Given the description of an element on the screen output the (x, y) to click on. 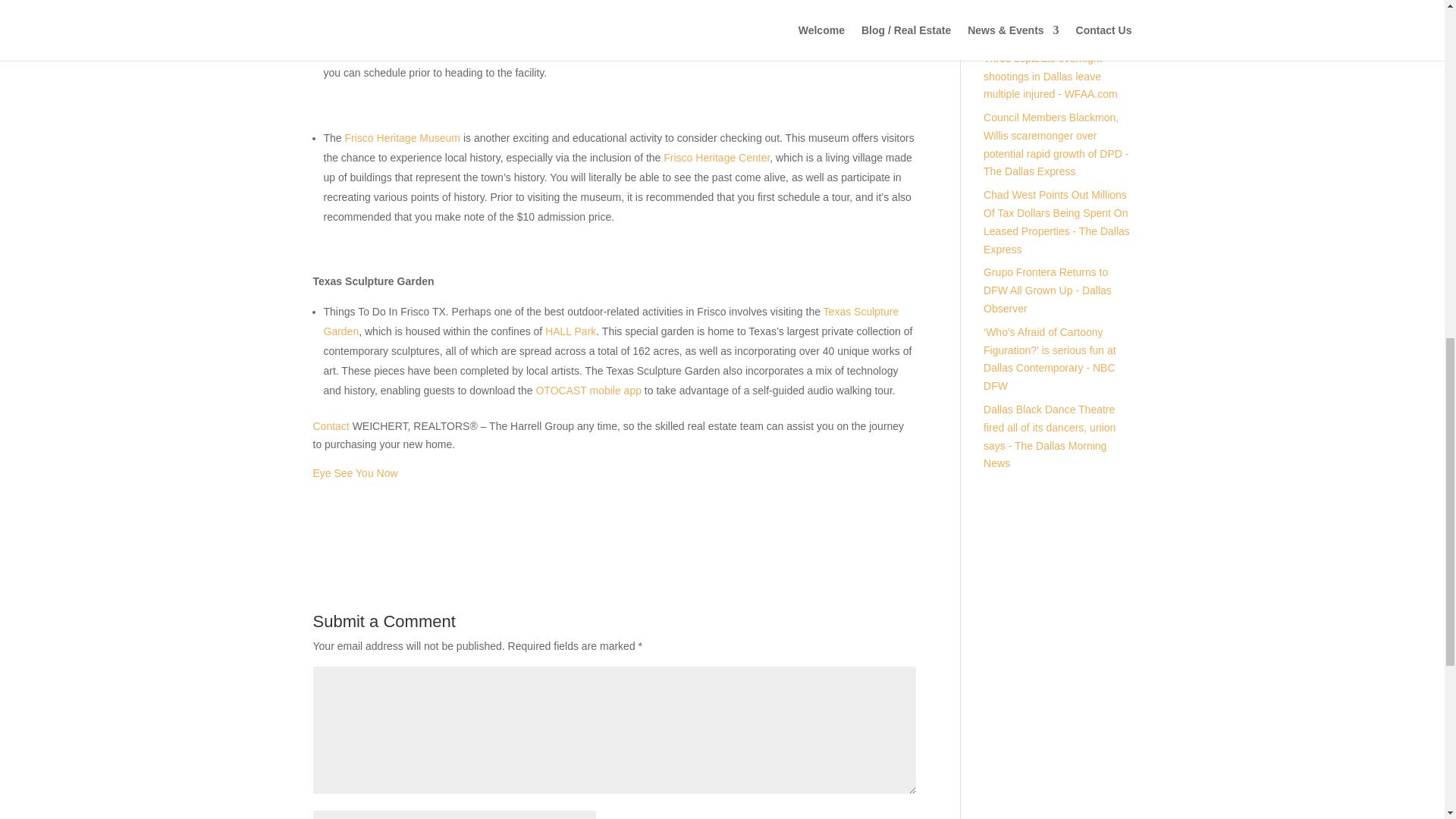
Frisco Heritage Center (716, 157)
Texas Sculpture Garden (610, 321)
Eye See You Now (355, 472)
OTOCAST mobile app (588, 390)
Contact (331, 426)
HALL Park (569, 331)
Omni hotel (742, 33)
Frisco Heritage Museum (403, 137)
